Given the description of an element on the screen output the (x, y) to click on. 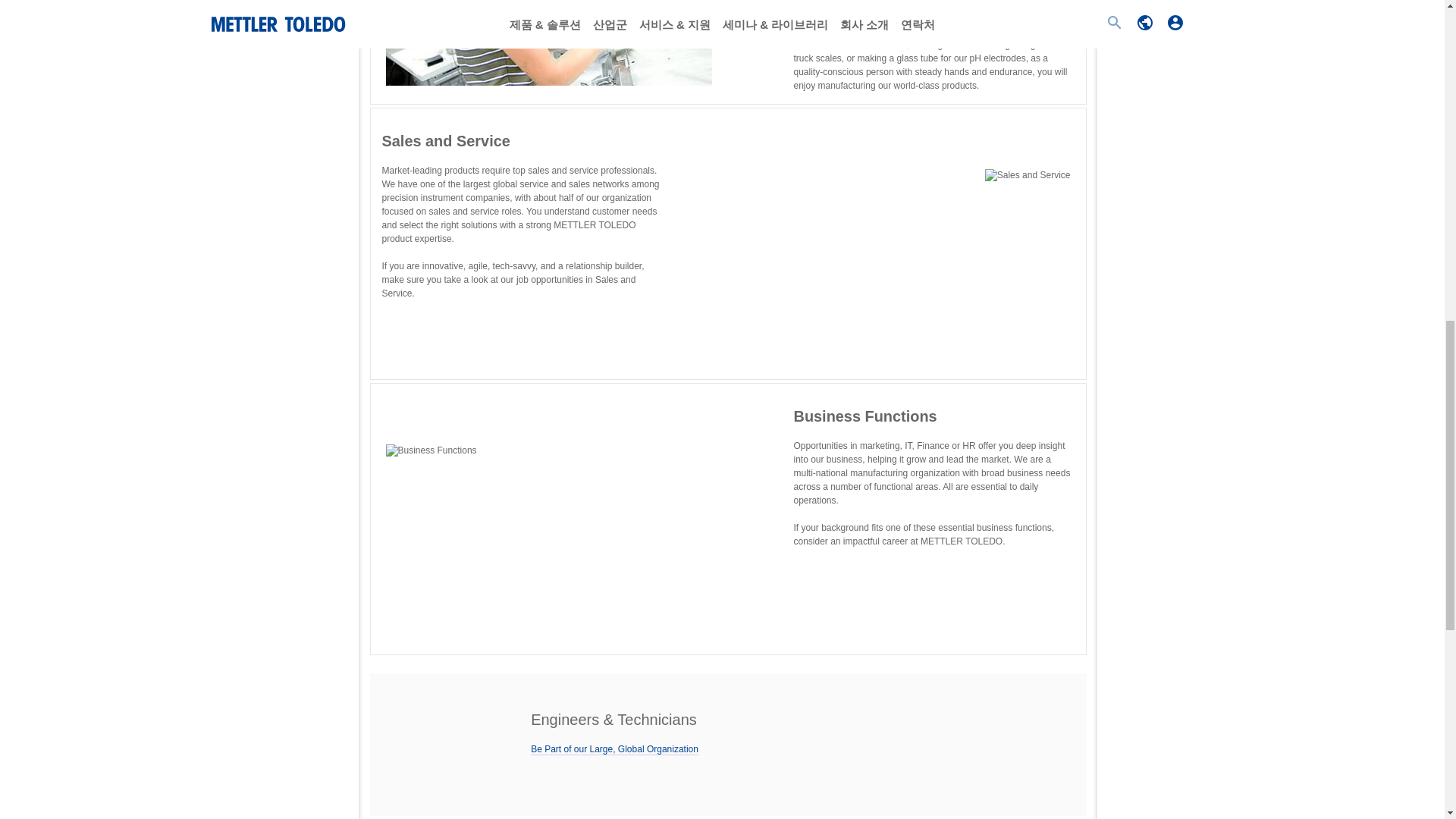
 Sales and Service (1027, 174)
Be Part of our Large, Global Organization (614, 749)
Business Functions (430, 450)
Production (548, 42)
